Given the description of an element on the screen output the (x, y) to click on. 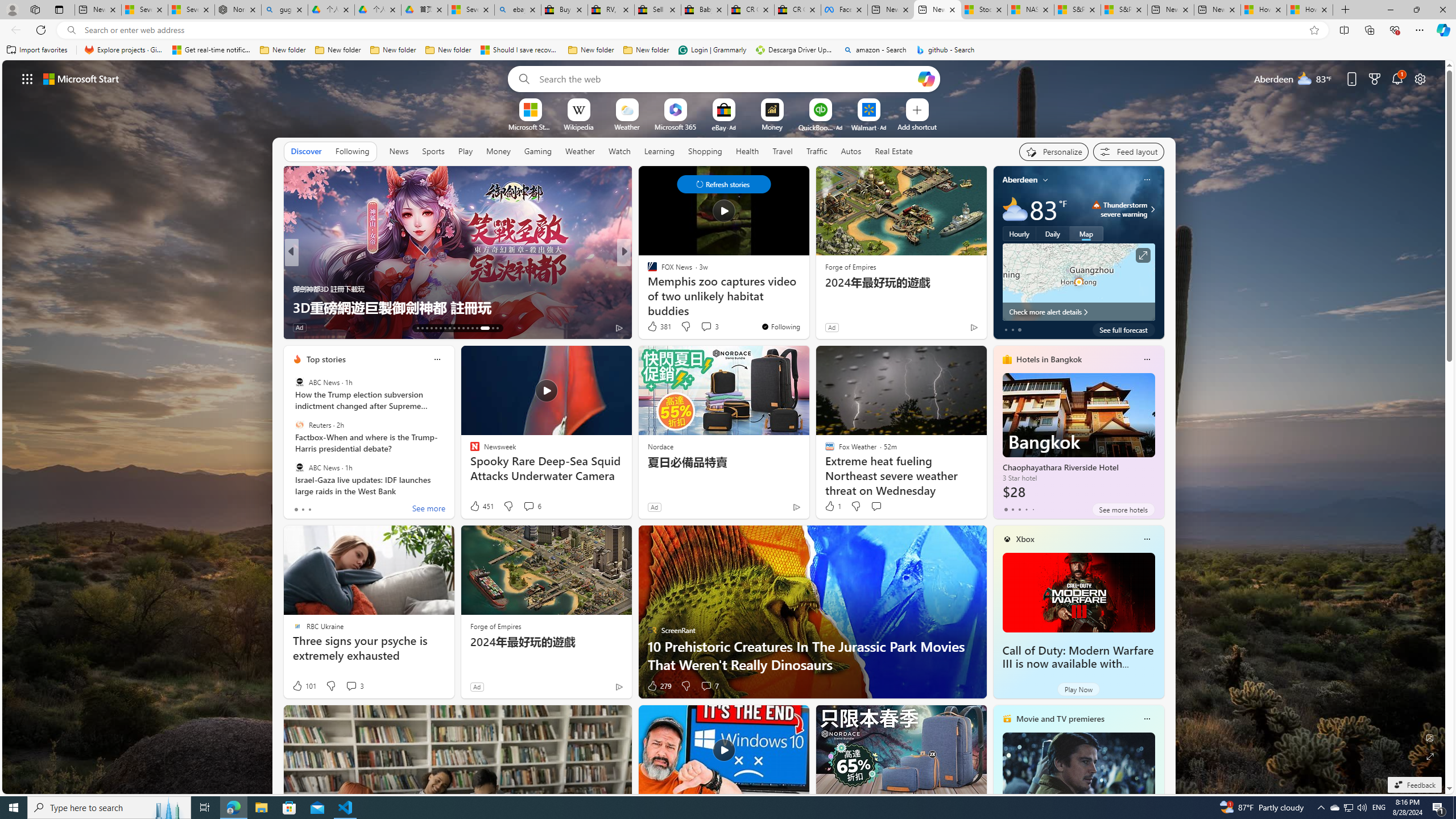
Class: weather-arrow-glyph (1152, 208)
Watch (619, 151)
Microsoft rewards (1374, 78)
AutomationID: tab-13 (417, 328)
279 Like (658, 685)
AutomationID: tab-16 (431, 328)
Learning (658, 151)
tab-0 (1005, 509)
192 Like (654, 327)
Autos (851, 151)
tab-3 (1025, 509)
S&P 500, Nasdaq end lower, weighed by Nvidia dip | Watch (1123, 9)
